Given the description of an element on the screen output the (x, y) to click on. 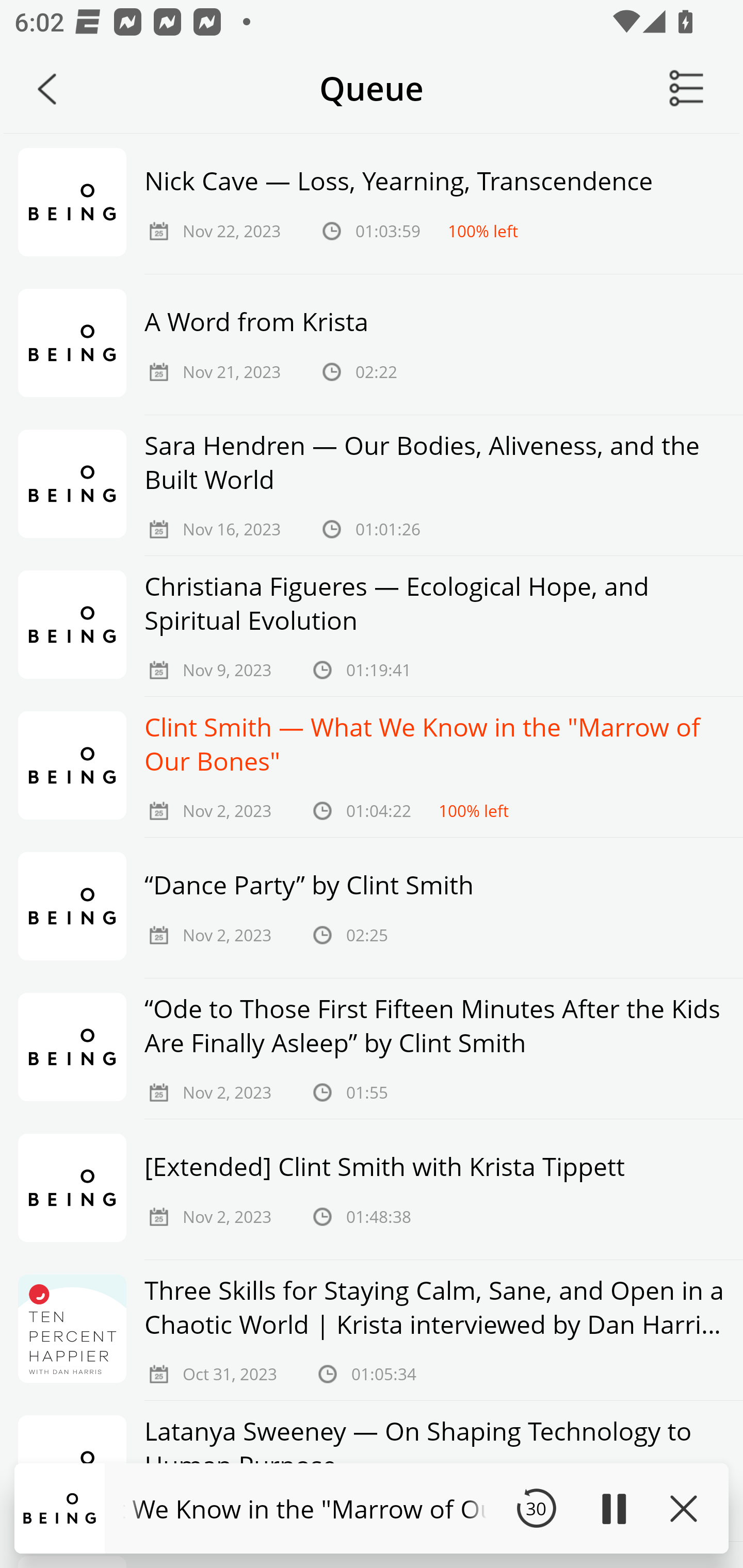
Back (46, 88)
A Word from Krista Nov 21, 2023 02:22 (371, 344)
“Dance Party” by Clint Smith Nov 2, 2023 02:25 (371, 907)
Play (613, 1507)
30 Seek Backward (536, 1508)
